Given the description of an element on the screen output the (x, y) to click on. 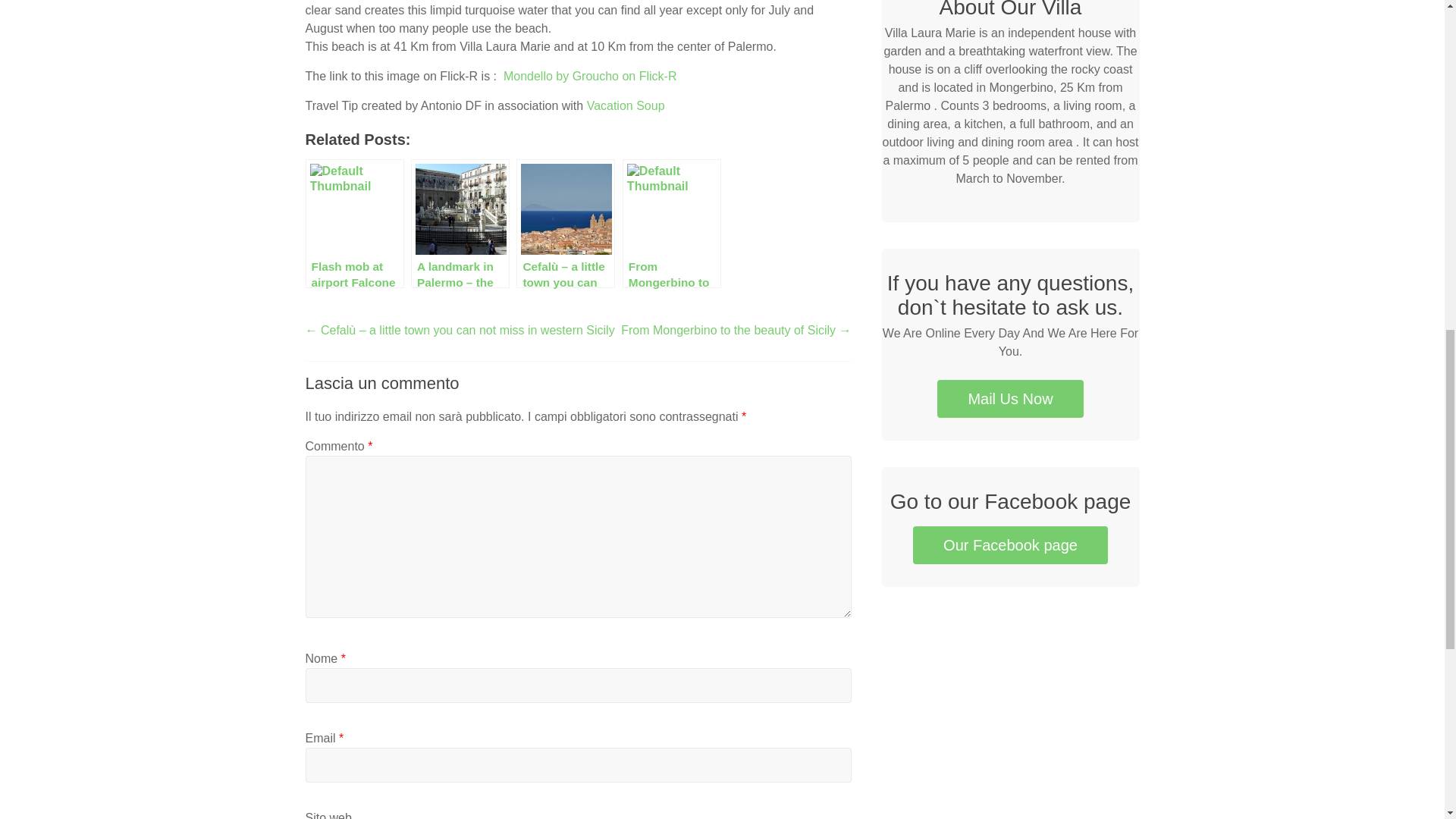
Mail Us Now (1010, 398)
Mail Us Now (1010, 398)
Mondello by Groucho on Flick-R (590, 75)
Our Facebook page (1010, 545)
Vacation Soup (625, 105)
Our Facebook page (1010, 545)
